Given the description of an element on the screen output the (x, y) to click on. 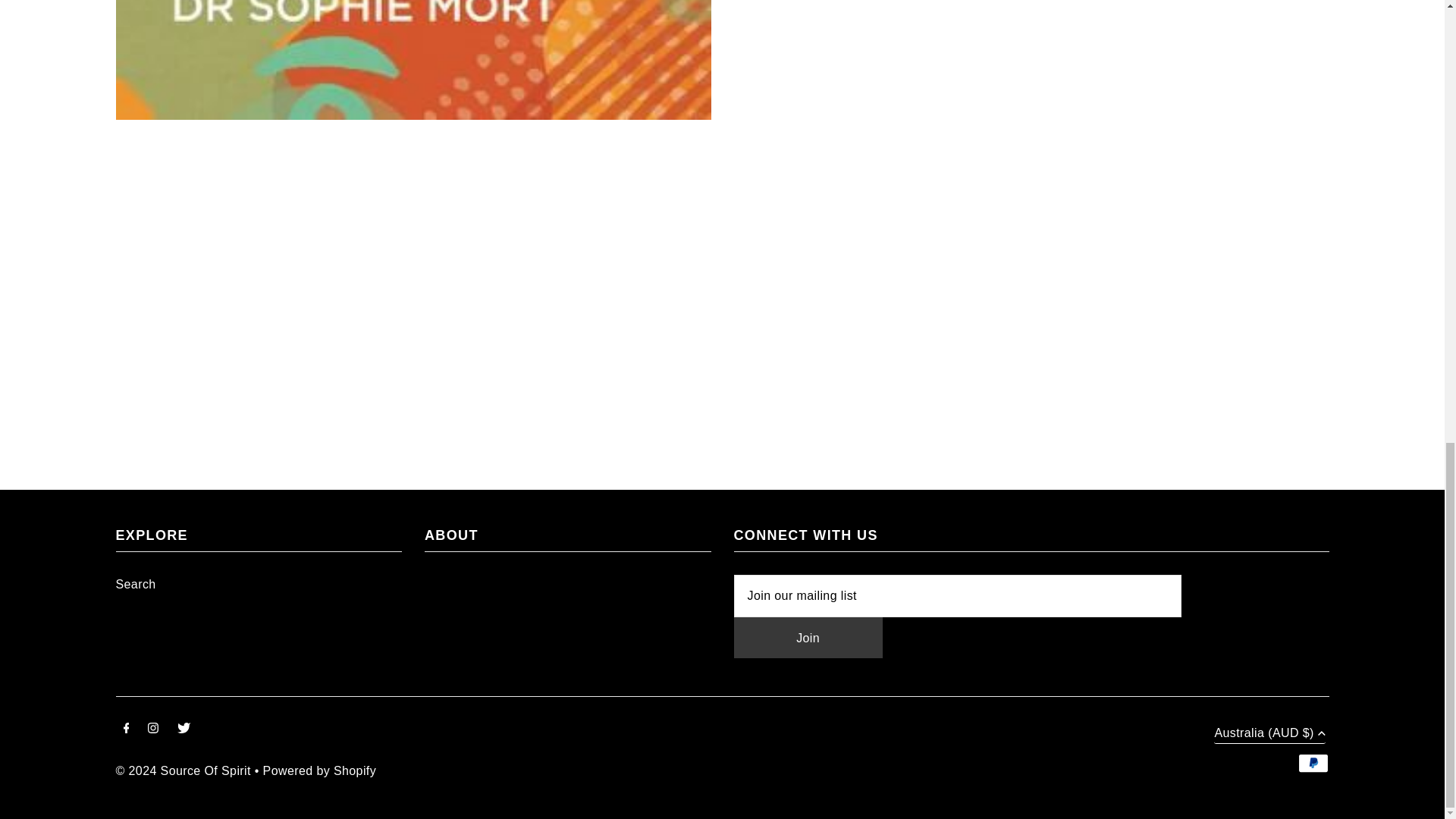
Join (807, 637)
PayPal (1312, 763)
